Given the description of an element on the screen output the (x, y) to click on. 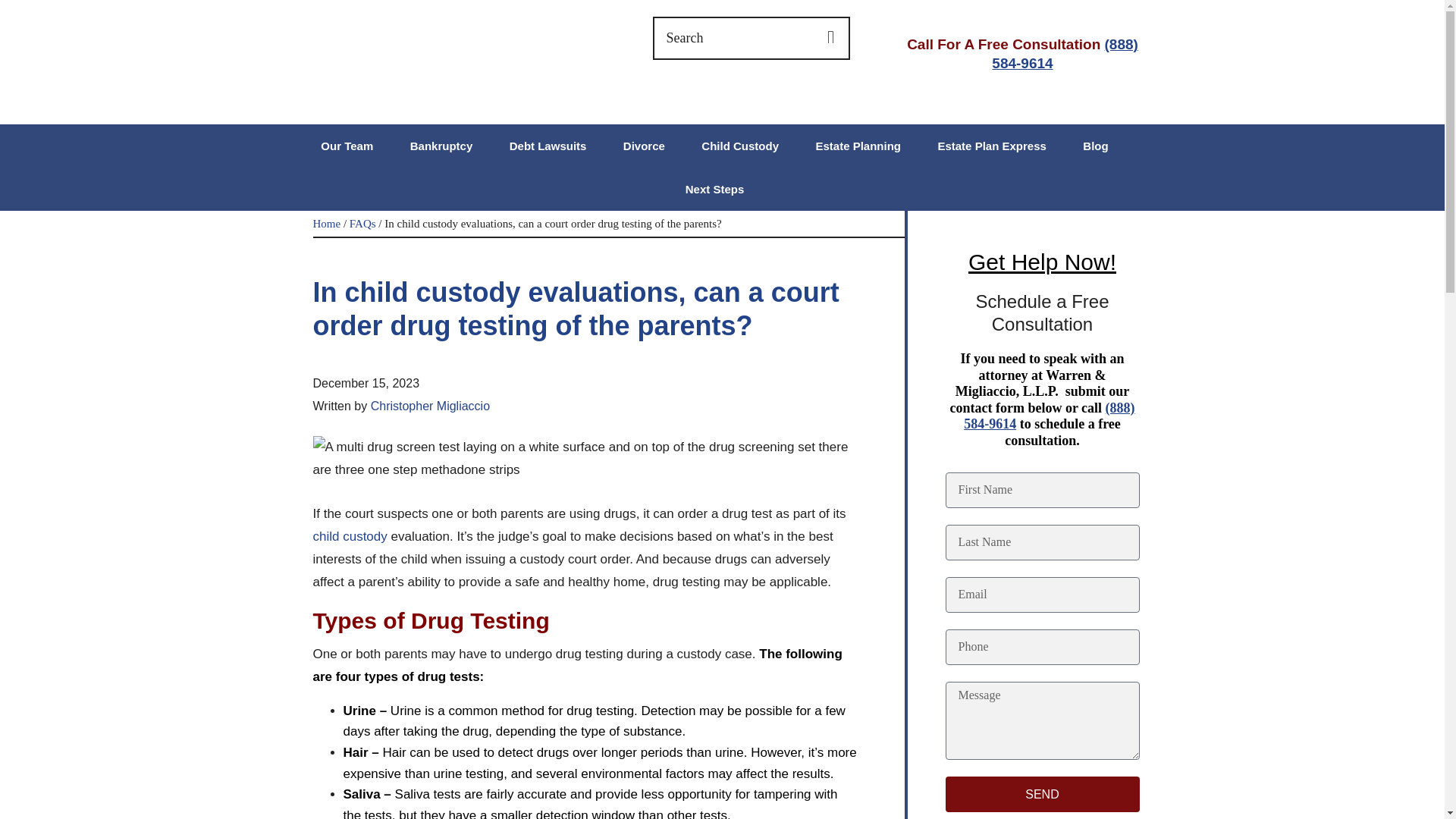
Our Team (346, 145)
Bankruptcy (441, 145)
Divorce (644, 145)
Debt Lawsuits (547, 145)
